Given the description of an element on the screen output the (x, y) to click on. 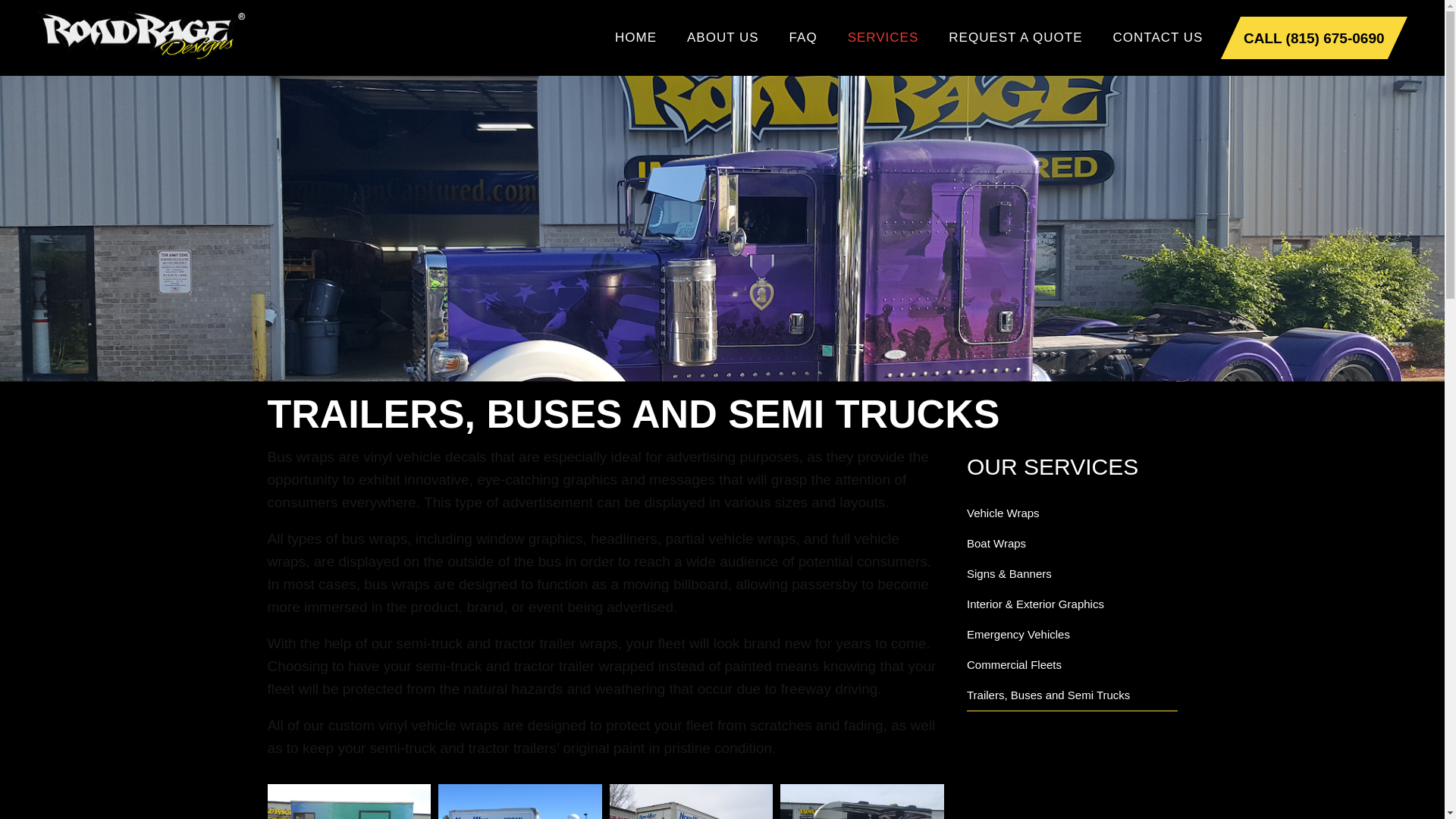
SERVICES (883, 38)
REQUEST A QUOTE (1015, 38)
ABOUT US (722, 38)
HOME (635, 38)
SAMSUNG CAMERA PICTURES (348, 801)
CONTACT US (1157, 38)
motorhome3 (861, 801)
